Given the description of an element on the screen output the (x, y) to click on. 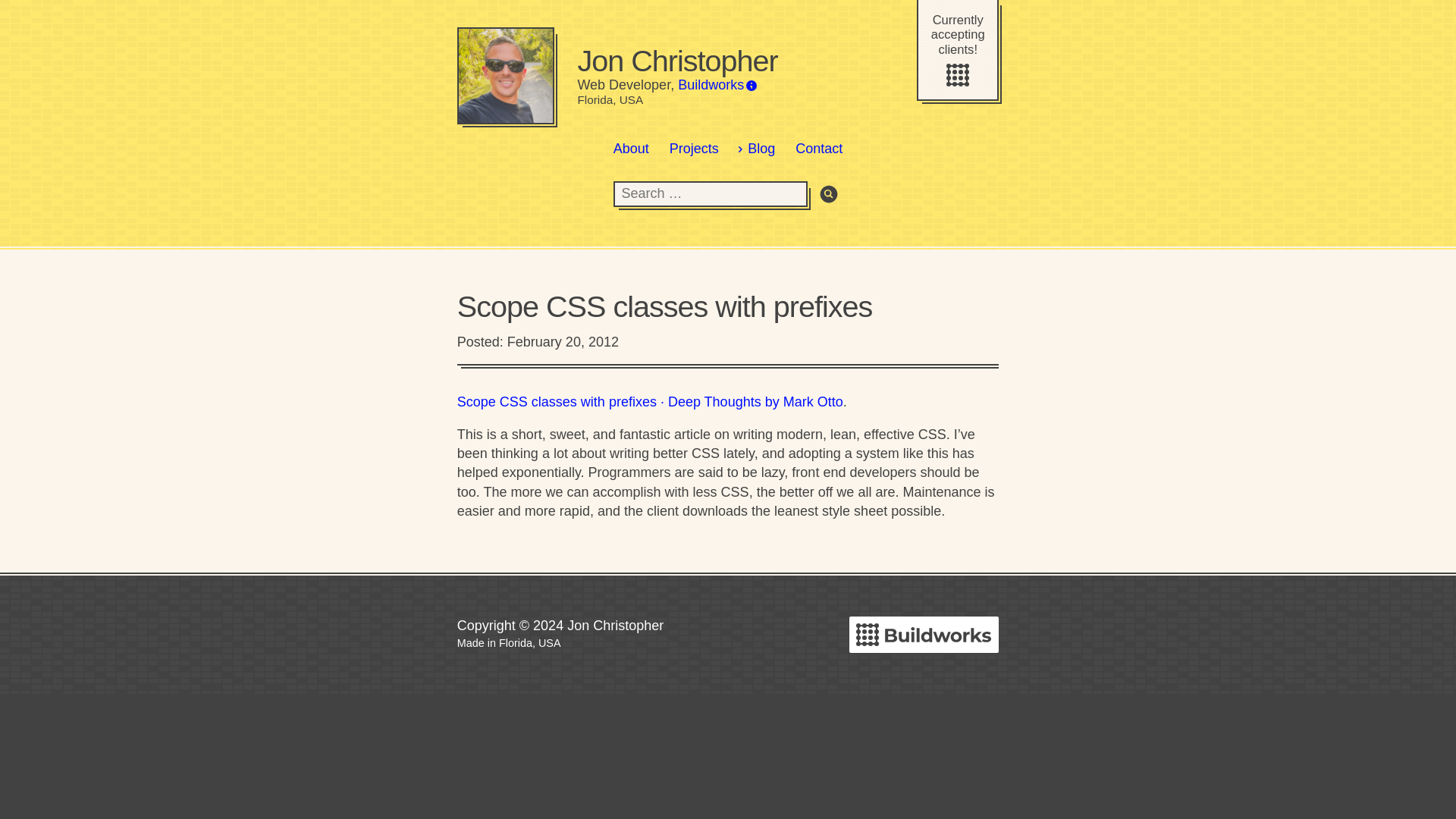
Buildworks (717, 84)
Contact (818, 149)
Blog (757, 149)
About (631, 149)
Projects (693, 149)
Search (827, 193)
